Given the description of an element on the screen output the (x, y) to click on. 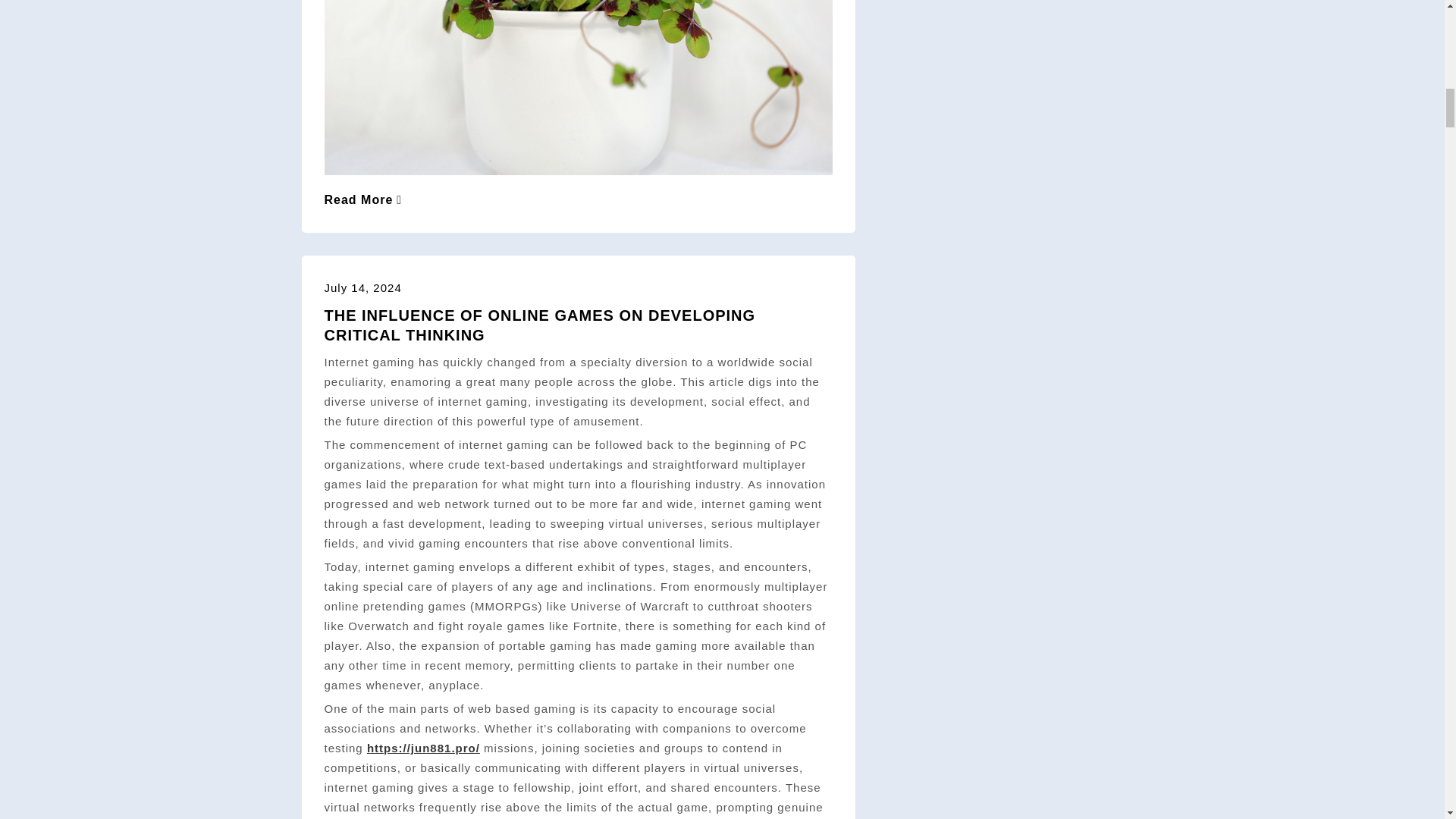
July 14, 2024 (362, 287)
Read More (363, 199)
